Given the description of an element on the screen output the (x, y) to click on. 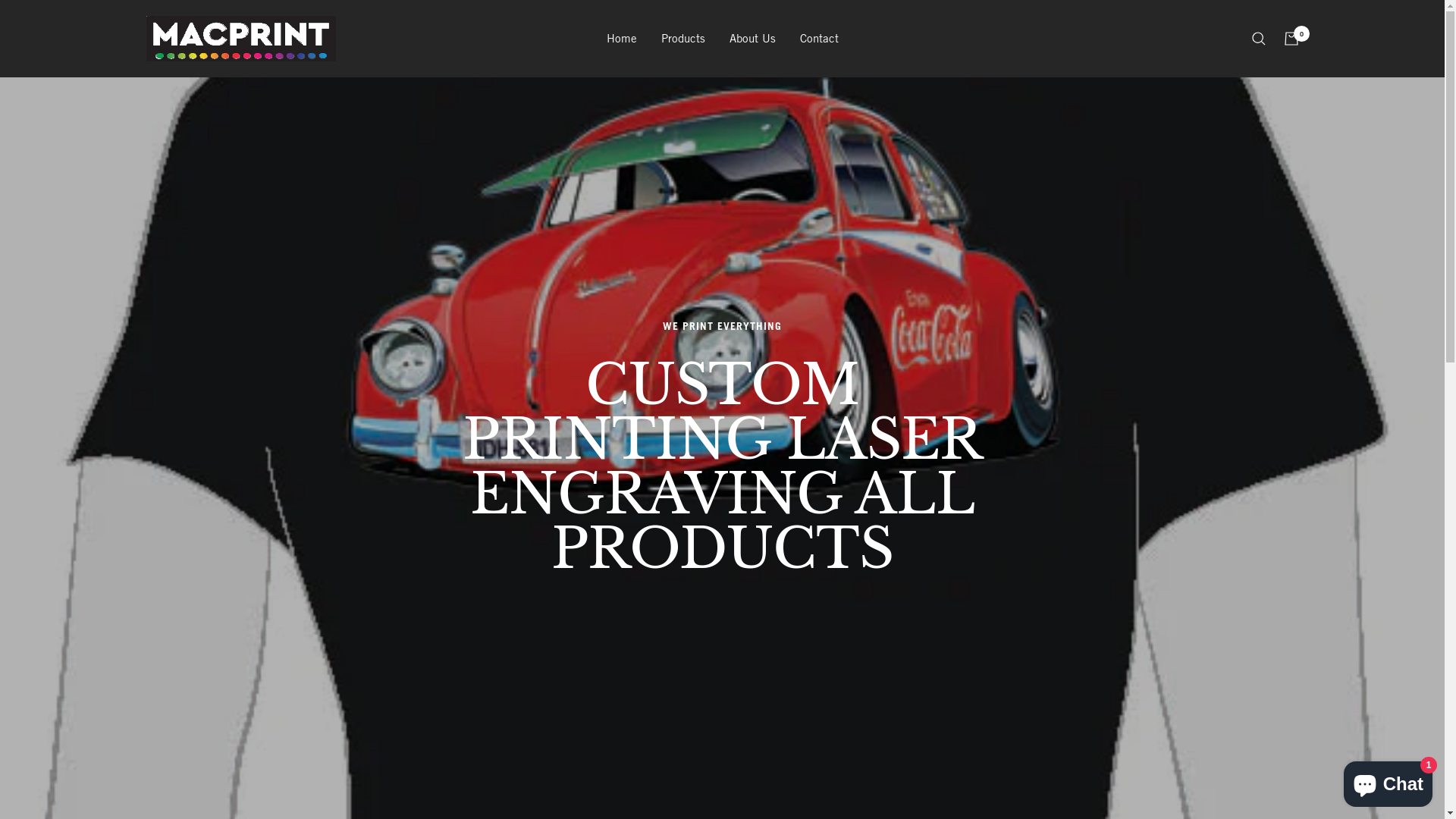
Contact Element type: text (818, 38)
Shopify online store chat Element type: hover (1388, 780)
0 Element type: text (1290, 38)
Home Element type: text (621, 38)
Products Element type: text (683, 38)
About Us Element type: text (752, 38)
macprintsigns Element type: text (240, 38)
